Given the description of an element on the screen output the (x, y) to click on. 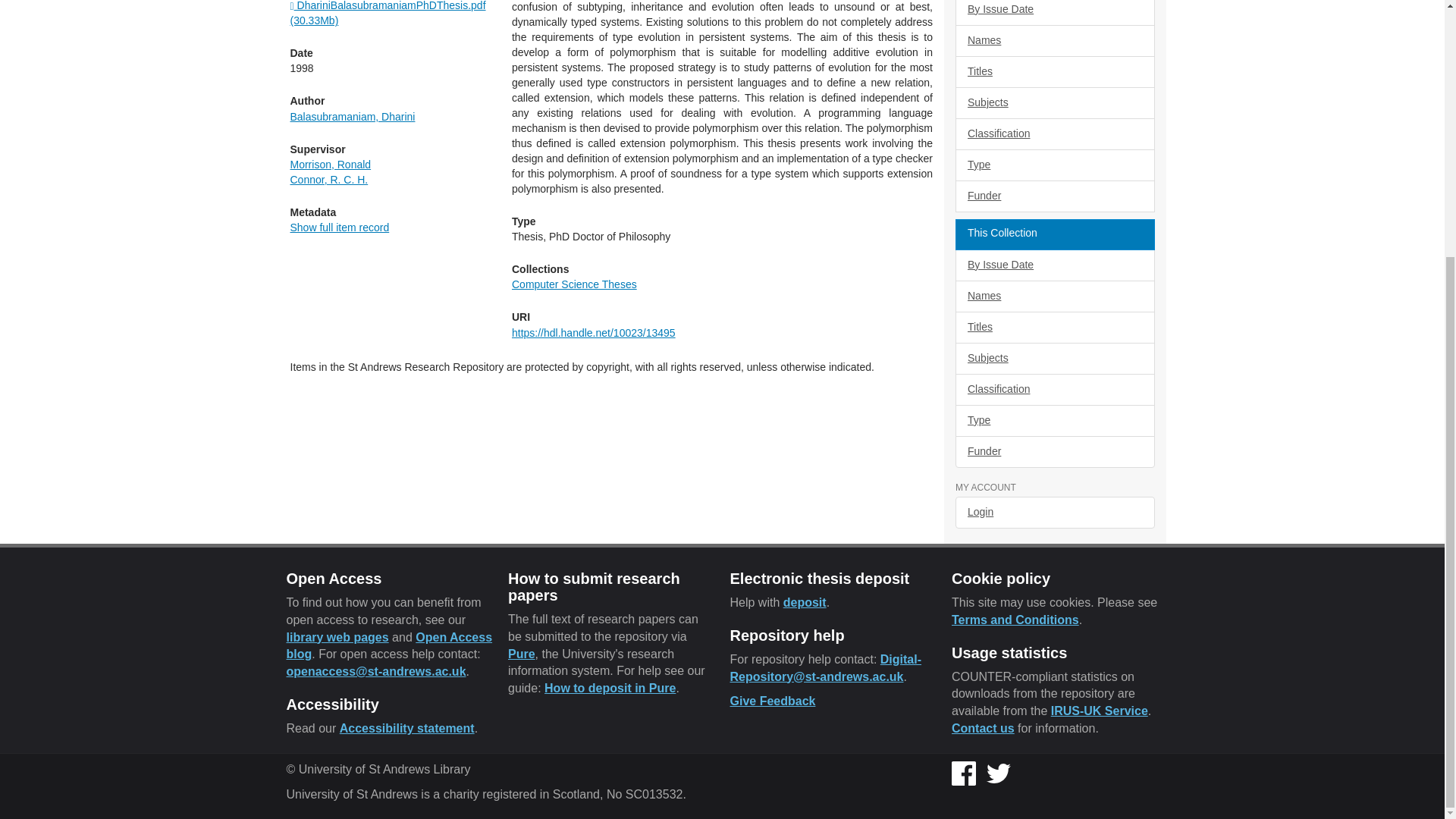
Subjects (1054, 102)
Titles (1054, 71)
Classification (1054, 133)
IRUS-UK Service (1099, 710)
Help with electronic theses deposit (805, 602)
Pure (521, 653)
Open Access Blog (389, 644)
How to deposit in Pure (609, 687)
University of St Andrews Library Open Access web pages (337, 635)
Names (1054, 296)
Email address for St Andrews Research Repository (825, 667)
Names (1054, 40)
Balasubramaniam, Dharini (351, 116)
Terms and Conditions (1015, 619)
